Given the description of an element on the screen output the (x, y) to click on. 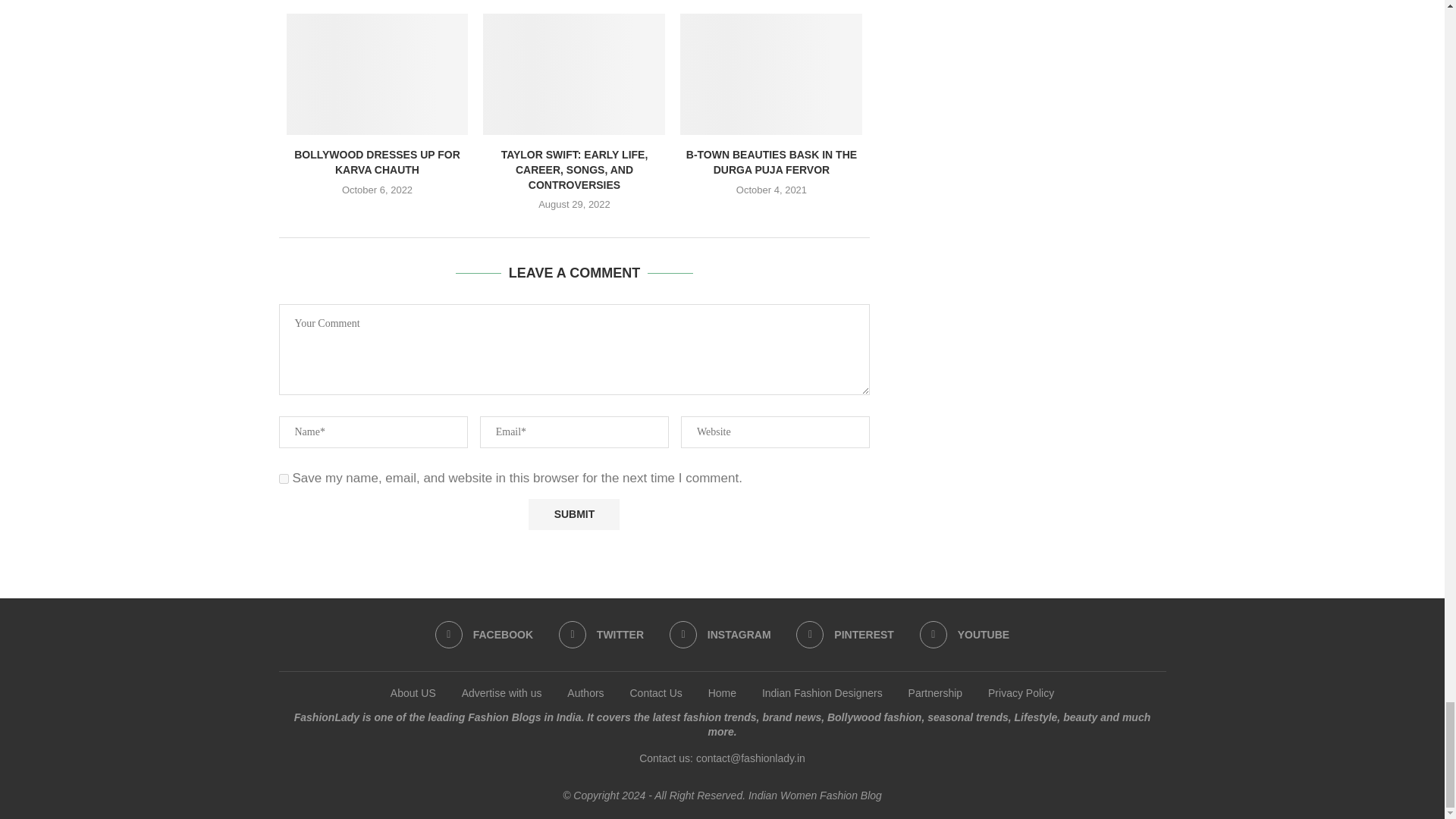
B-Town Beauties Bask In The Durga Puja Fervor (770, 74)
Submit (574, 513)
Bollywood Dresses Up For Karva Chauth (377, 74)
Taylor Swift: Early Life, Career, Songs, And Controversies (574, 74)
yes (283, 479)
